Given the description of an element on the screen output the (x, y) to click on. 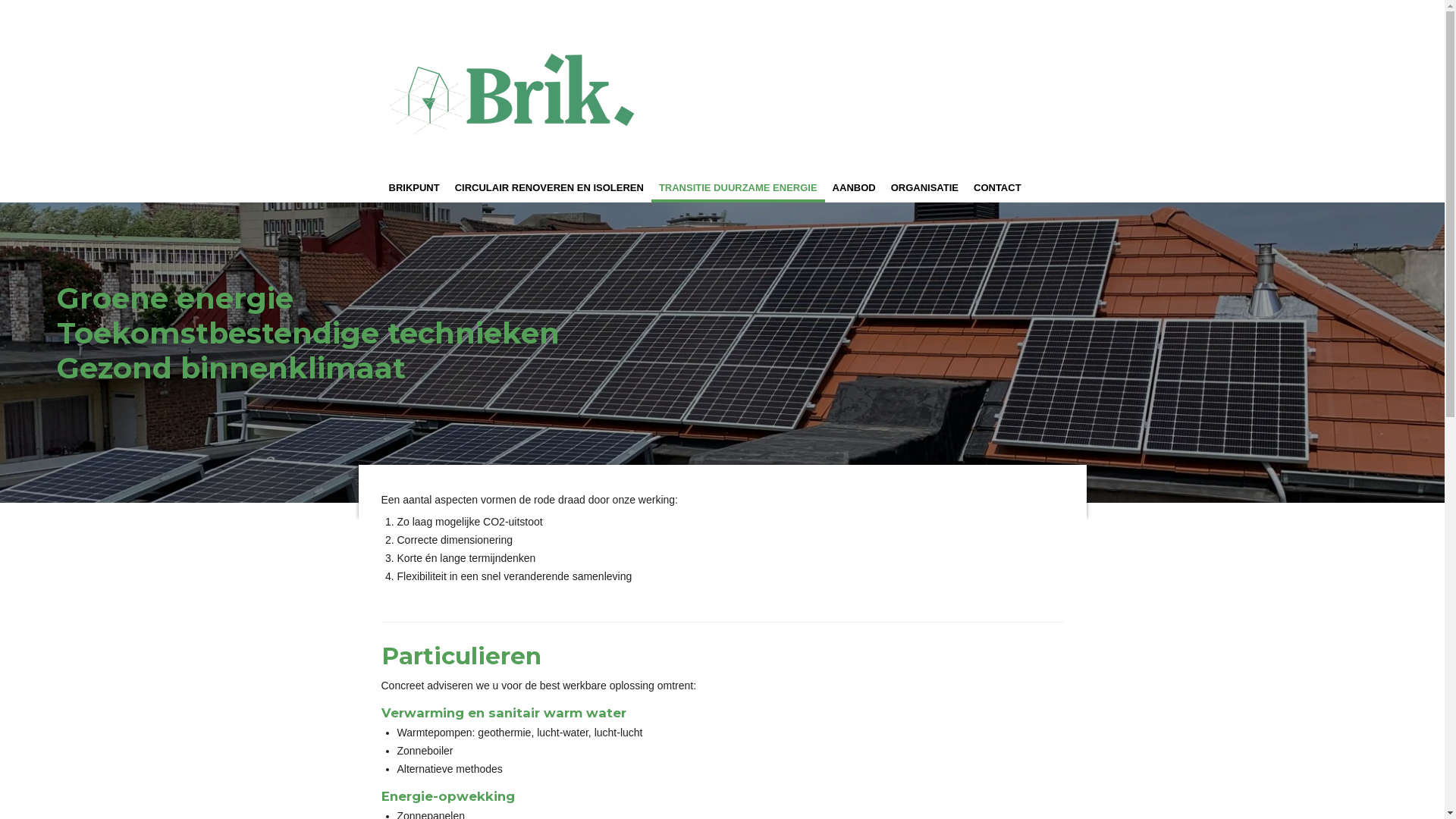
CONTACT Element type: text (997, 187)
brikpunt Element type: hover (513, 86)
CIRCULAIR RENOVEREN EN ISOLEREN Element type: text (549, 187)
AANBOD Element type: text (854, 187)
ORGANISATIE Element type: text (924, 187)
BRIKPUNT Element type: text (413, 187)
TRANSITIE DUURZAME ENERGIE Element type: text (738, 187)
